Given the description of an element on the screen output the (x, y) to click on. 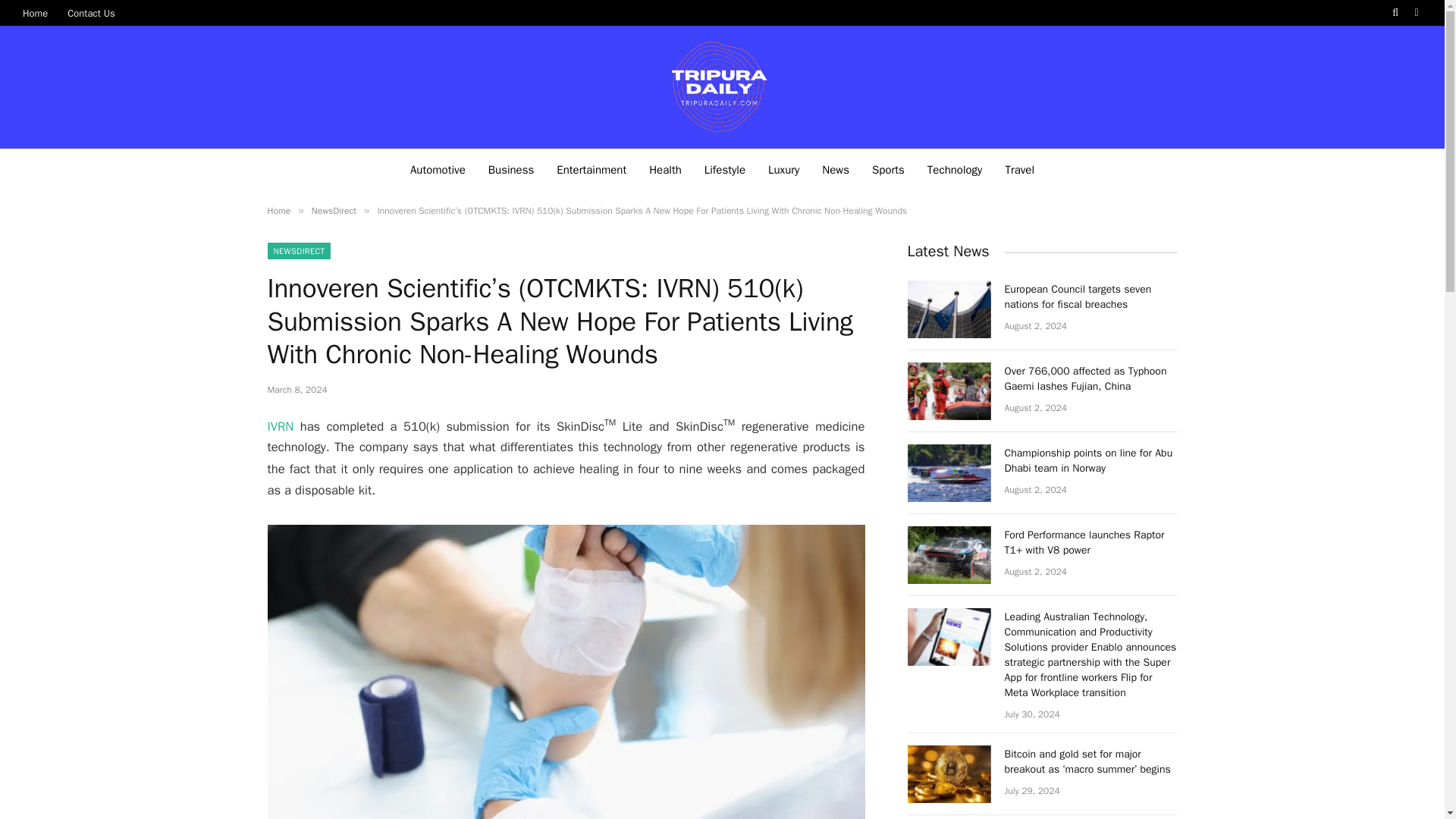
IVRN (280, 425)
News (835, 169)
Switch to Dark Design - easier on eyes. (1414, 12)
NEWSDIRECT (298, 250)
Entertainment (590, 169)
Home (277, 210)
Home (35, 12)
Business (511, 169)
NewsDirect (333, 210)
Tripura Daily (721, 86)
